Given the description of an element on the screen output the (x, y) to click on. 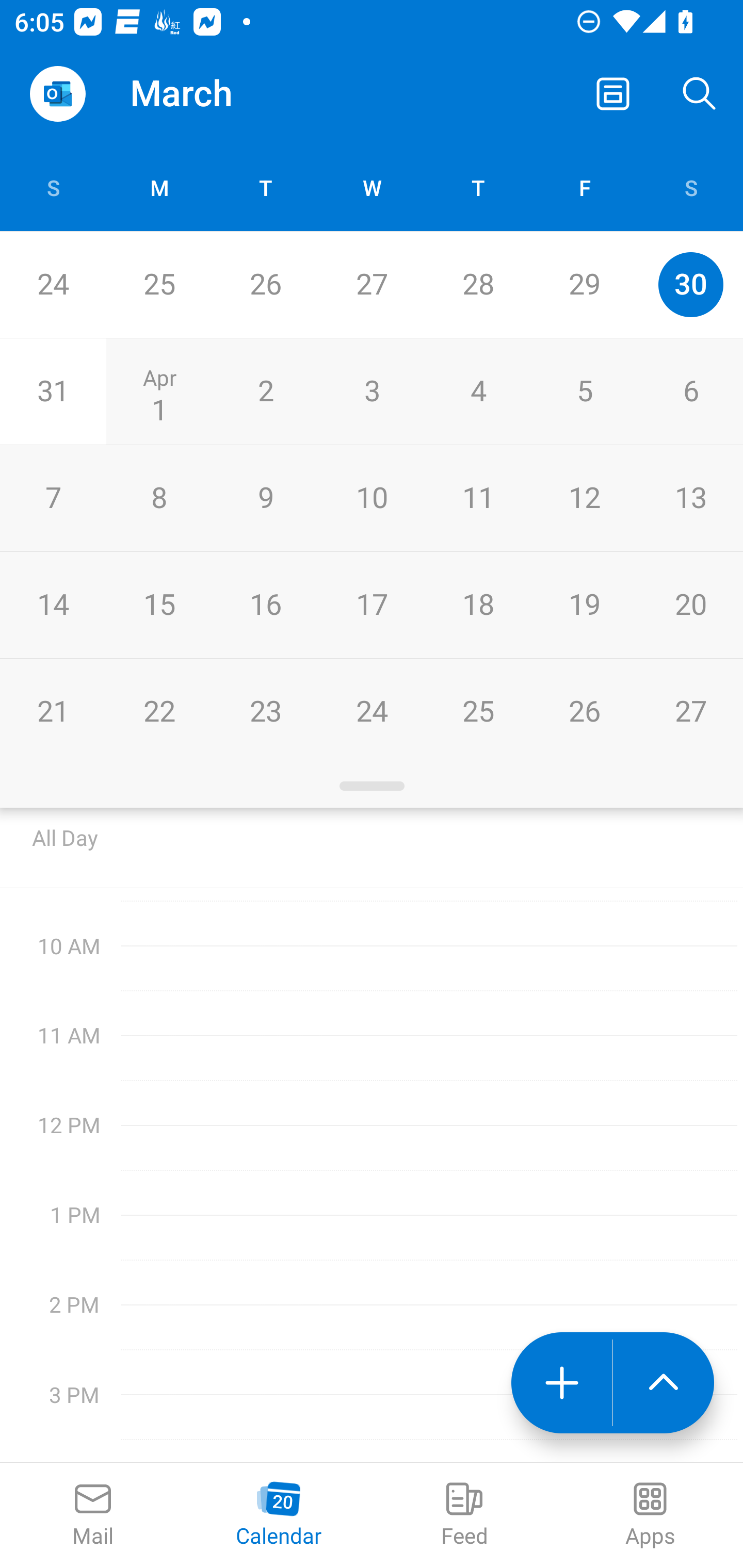
March March 2024, day picker (209, 93)
Switch away from Day view (612, 93)
Search, ,  (699, 93)
Open Navigation Drawer (57, 94)
24 Sunday, March 24 (53, 284)
25 Monday, March 25 (159, 284)
26 Tuesday, March 26 (265, 284)
27 Wednesday, March 27 (371, 284)
28 Thursday, March 28 (477, 284)
29 Friday, March 29 (584, 284)
30 Saturday, March 30, Selected (690, 284)
31 Sunday, March 31 (53, 391)
Apr
1 Monday, April 1 (159, 391)
2 Tuesday, April 2 (265, 391)
3 Wednesday, April 3 (371, 391)
4 Thursday, April 4 (477, 391)
5 Friday, April 5 (584, 391)
6 Saturday, April 6 (690, 391)
7 Sunday, April 7 (53, 498)
8 Monday, April 8 (159, 498)
9 Tuesday, April 9 (265, 498)
10 Wednesday, April 10 (371, 498)
11 Thursday, April 11 (477, 498)
12 Friday, April 12 (584, 498)
13 Saturday, April 13 (690, 498)
14 Sunday, April 14 (53, 604)
15 Monday, April 15 (159, 604)
16 Tuesday, April 16 (265, 604)
17 Wednesday, April 17 (371, 604)
18 Thursday, April 18 (477, 604)
19 Friday, April 19 (584, 604)
20 Saturday, April 20 (690, 604)
21 Sunday, April 21 (53, 711)
22 Monday, April 22 (159, 711)
23 Tuesday, April 23 (265, 711)
24 Wednesday, April 24 (371, 711)
25 Thursday, April 25 (477, 711)
26 Friday, April 26 (584, 711)
27 Saturday, April 27 (690, 711)
Day picker (371, 786)
New event (561, 1382)
launch the extended action menu (663, 1382)
Mail (92, 1515)
Feed (464, 1515)
Apps (650, 1515)
